Given the description of an element on the screen output the (x, y) to click on. 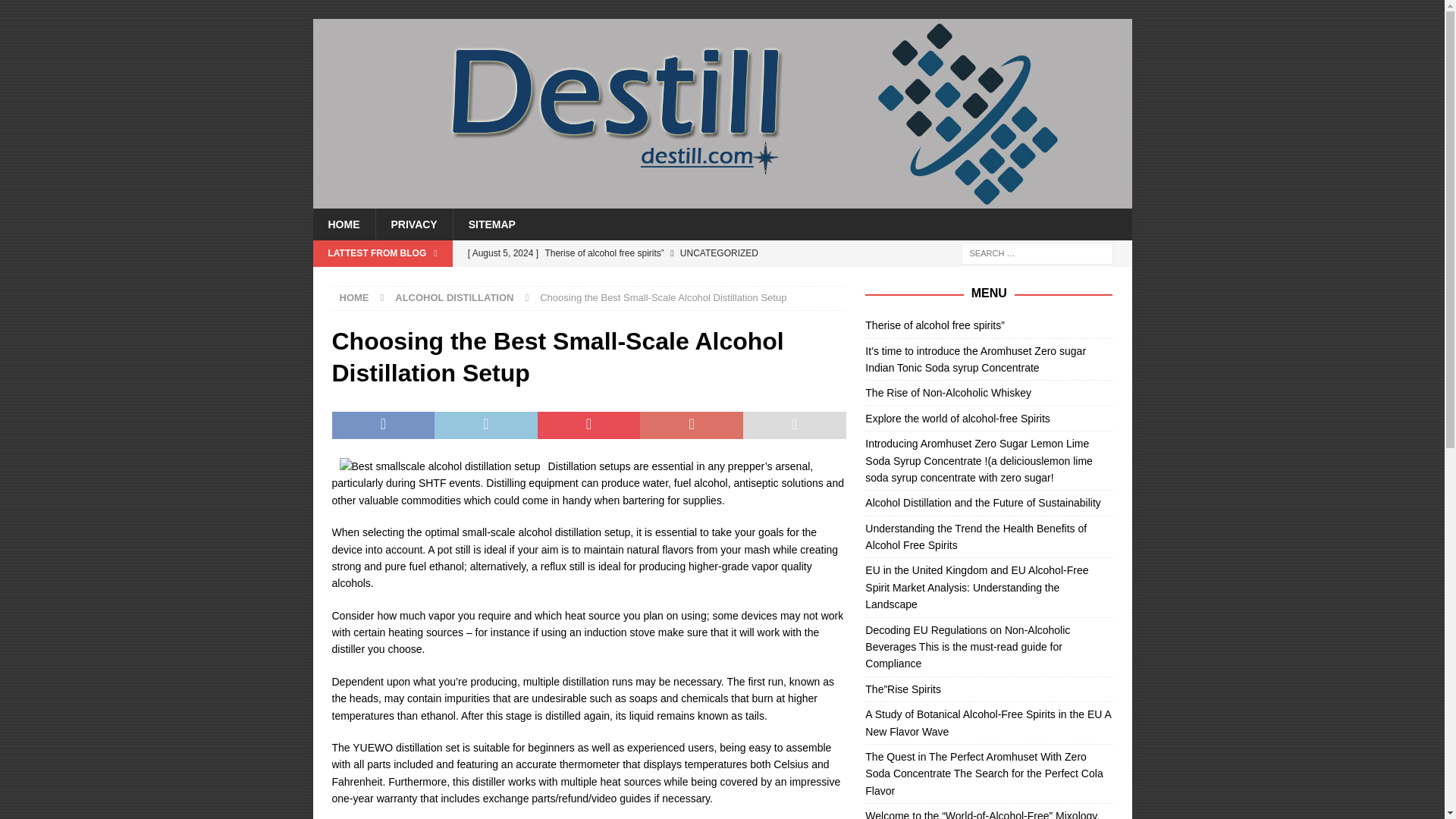
ALCOHOL DISTILLATION (453, 297)
SITEMAP (491, 224)
Search (56, 11)
HOME (343, 224)
The Rise of Non-Alcoholic Whiskey (947, 392)
PRIVACY (412, 224)
destill (722, 200)
HOME (354, 297)
